Given the description of an element on the screen output the (x, y) to click on. 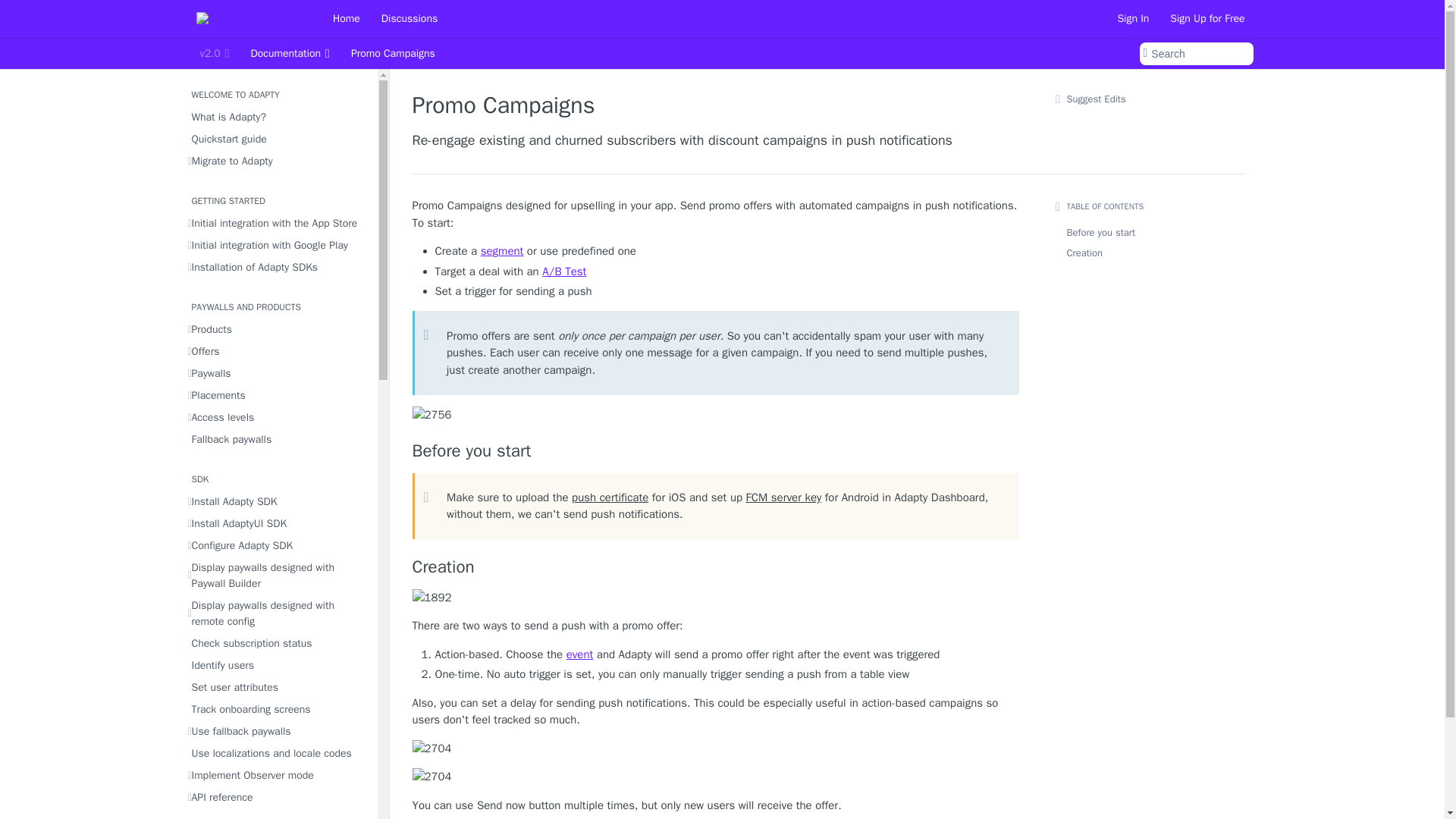
Search (1195, 53)
What is Adapty? (277, 117)
Initial integration with the App Store (277, 222)
Quickstart guide (277, 138)
Documentation (290, 53)
Discussions (408, 18)
Promo campaign.png (715, 597)
Promo campaigns.png (715, 415)
Creation (715, 567)
v2.0 (213, 53)
